Given the description of an element on the screen output the (x, y) to click on. 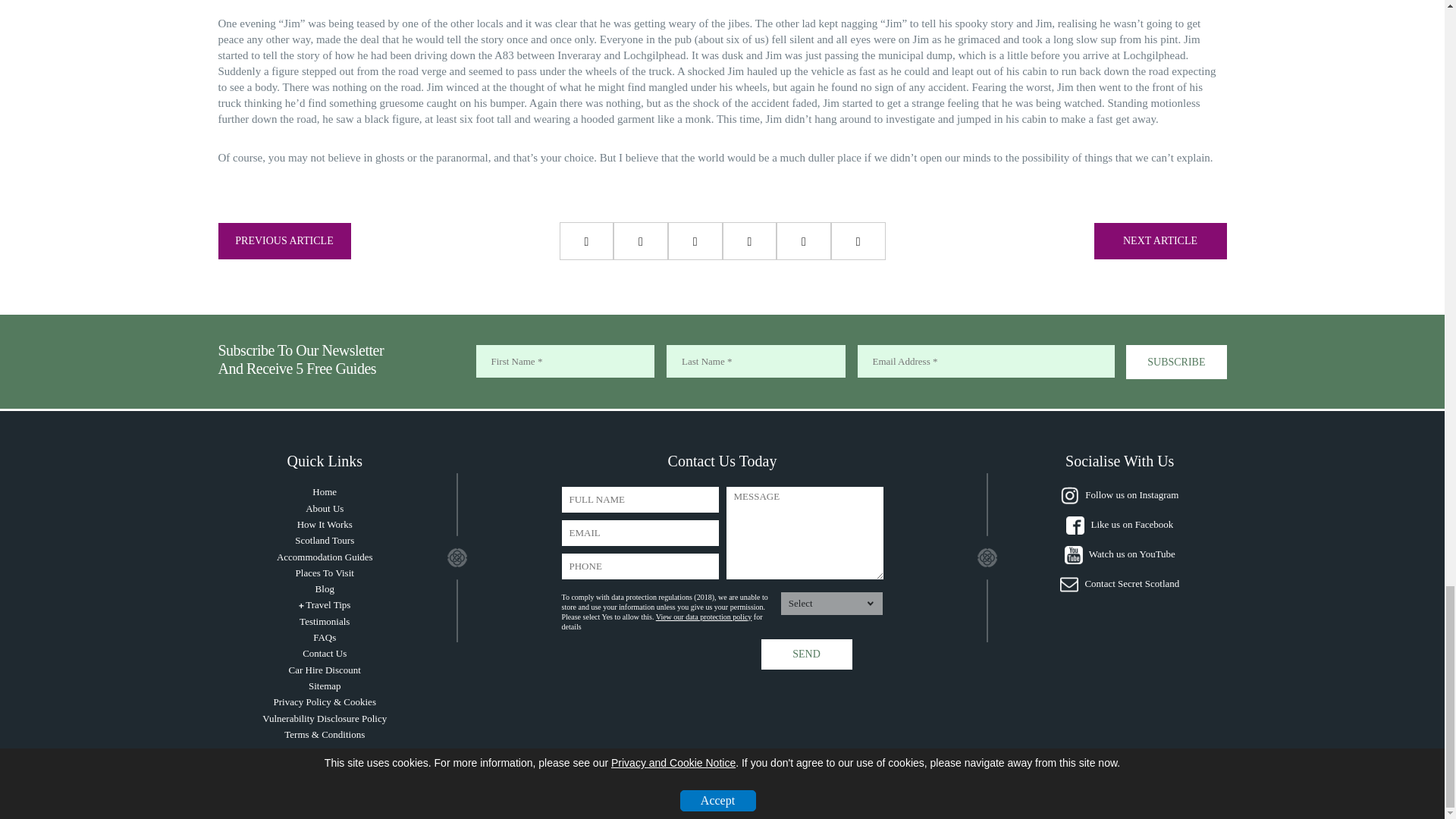
How It Works (324, 523)
Send (806, 654)
SUBSCRIBE (1175, 361)
Testimonials (324, 621)
Contact Us (324, 653)
Travel Tips (327, 604)
Home (324, 491)
About Us (324, 508)
NEXT ARTICLE (1159, 240)
Accommodation Guides (324, 556)
Scotland Tours (324, 540)
PREVIOUS ARTICLE (284, 240)
Blog (324, 588)
SUBSCRIBE (1175, 361)
FAQs (324, 636)
